Given the description of an element on the screen output the (x, y) to click on. 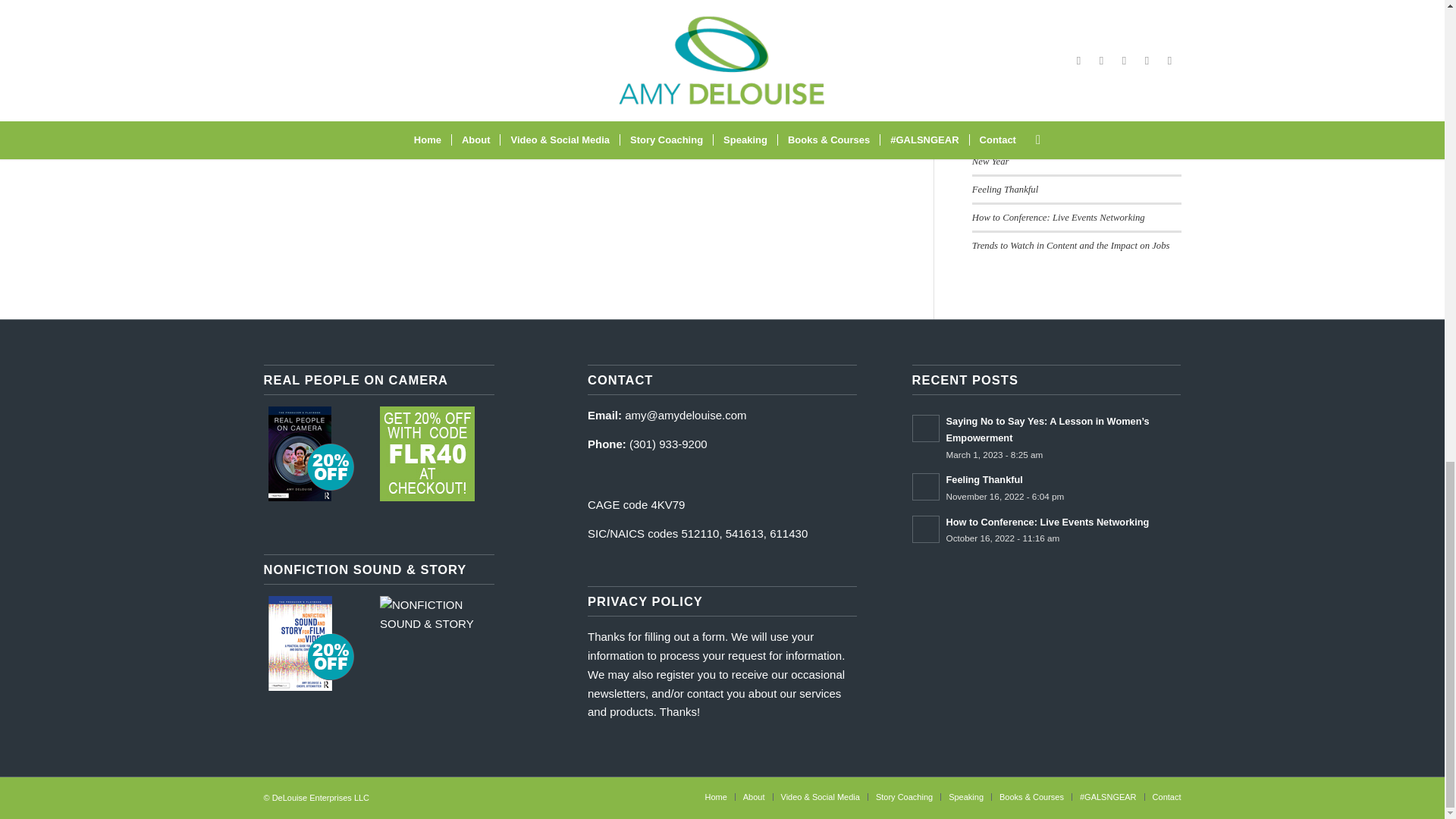
REAL PEOPLE ON CAMERA (427, 453)
Feeling Thankful (1005, 189)
Trends to Watch in Content and the Impact on Jobs (1071, 245)
Weightlifting, Failure and Creative Thinking in the New Year (1070, 153)
How to Conference: Live Events Networking (1058, 217)
REAL PEOPLE ON CAMERA (310, 453)
